Given the description of an element on the screen output the (x, y) to click on. 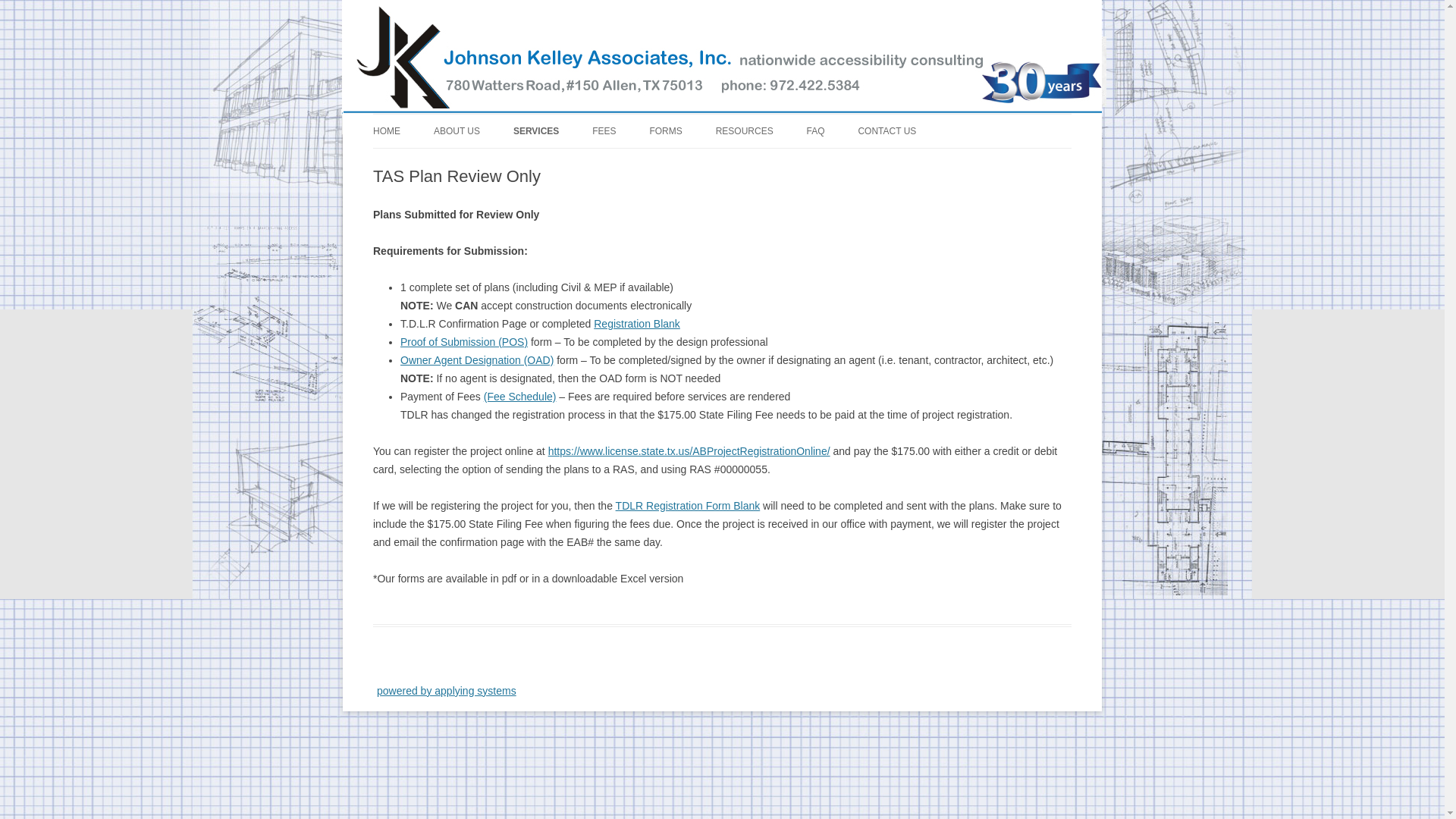
FORMS (665, 131)
TAS Book Order Form (791, 163)
ALL FORMS (724, 163)
Applying Systems Integration (446, 690)
Accessibility  Fee Schedule (668, 163)
SERVICES (536, 131)
Skip to content (757, 118)
TAS FULL SUBMISSION (589, 163)
FEE SCHEDULE (668, 163)
TAS BOOK ORDER FORM (791, 163)
